Given the description of an element on the screen output the (x, y) to click on. 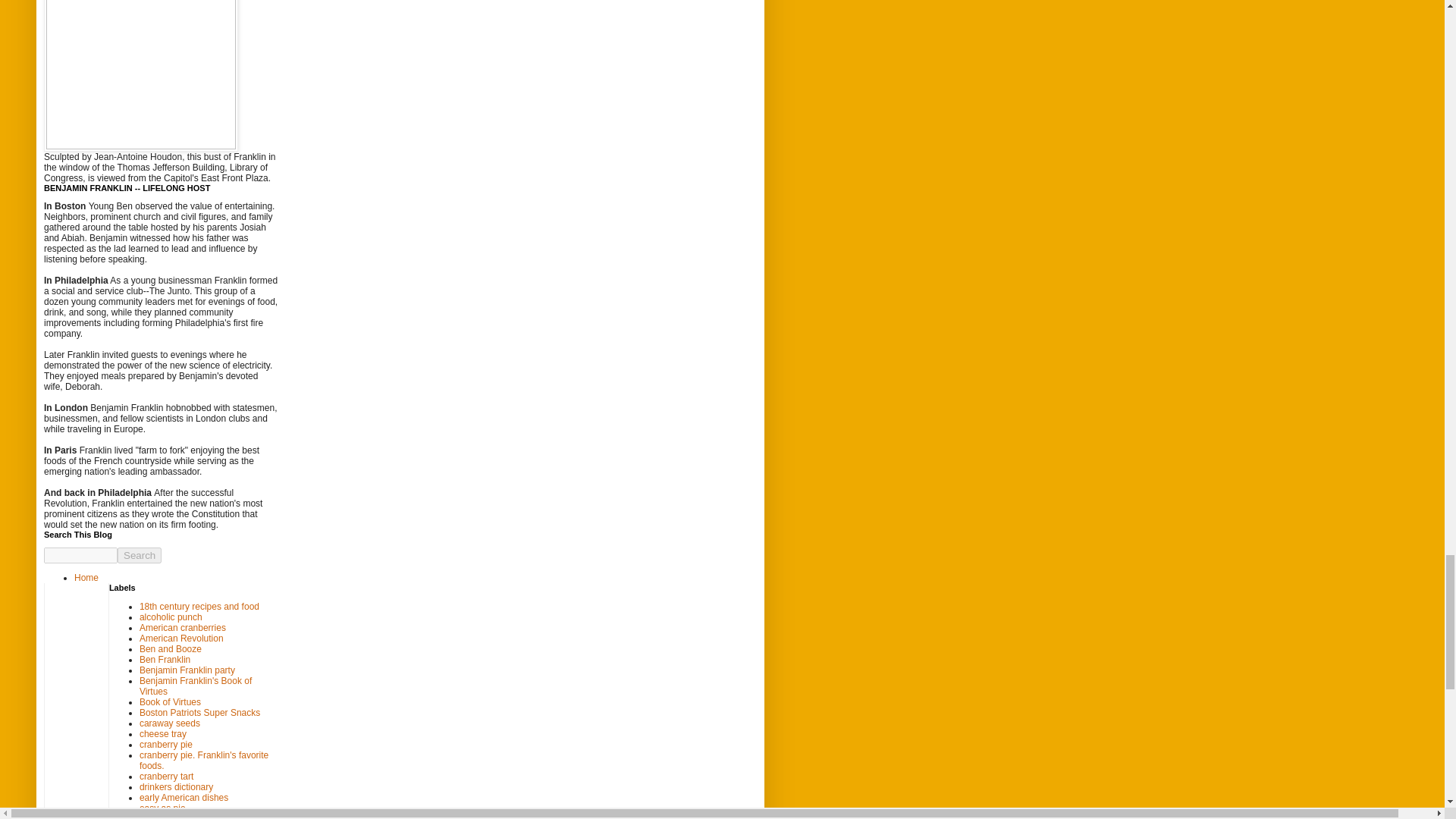
search (139, 555)
search (80, 555)
Search (139, 555)
Search (139, 555)
